Given the description of an element on the screen output the (x, y) to click on. 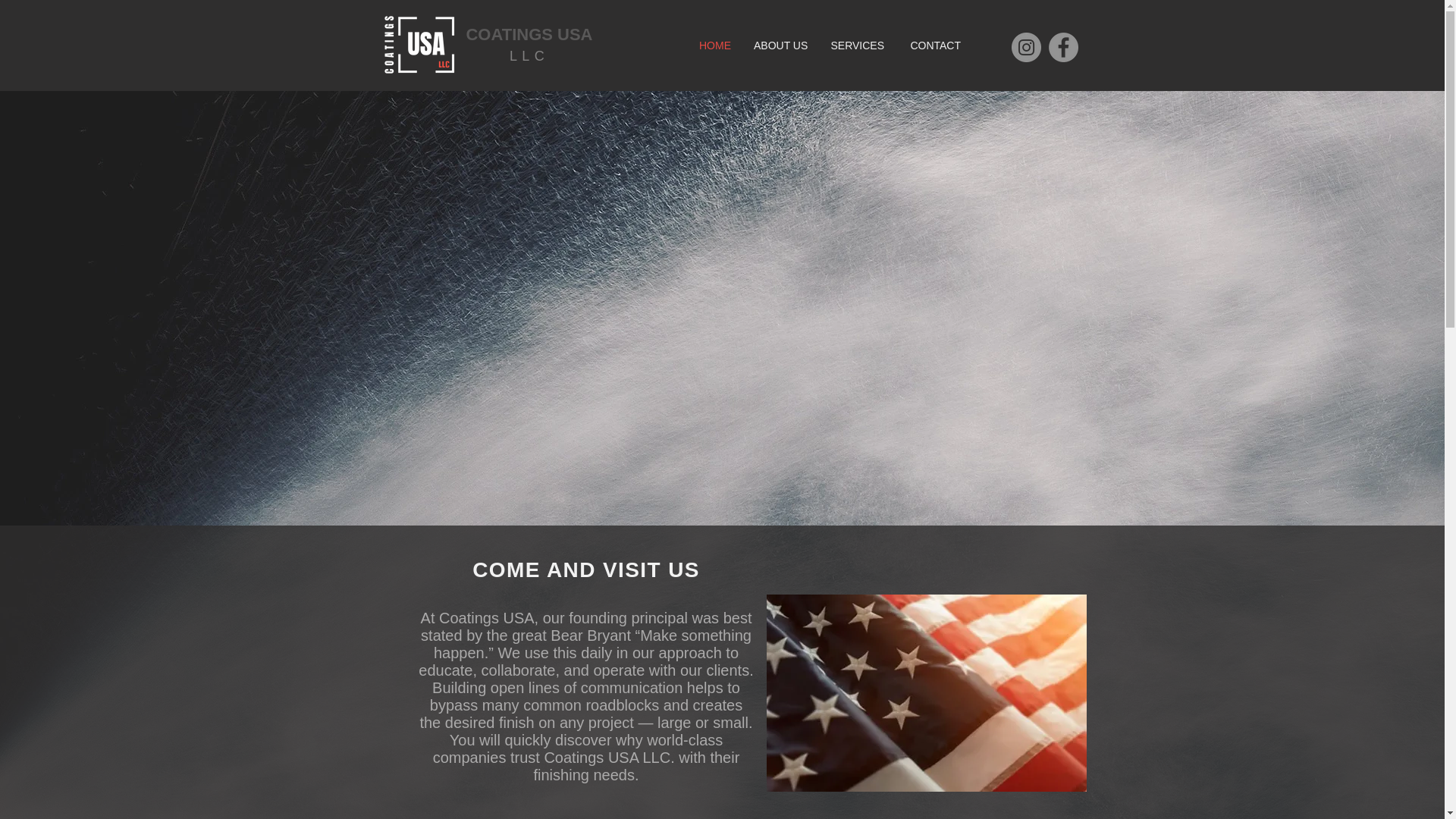
HOME (703, 45)
ABOUT US (780, 45)
Dark Blue Minimalist Startup P Letter Lo (419, 45)
COATINGS USA (528, 34)
CONTACT (933, 45)
LLC (528, 55)
SERVICES (856, 45)
